Given the description of an element on the screen output the (x, y) to click on. 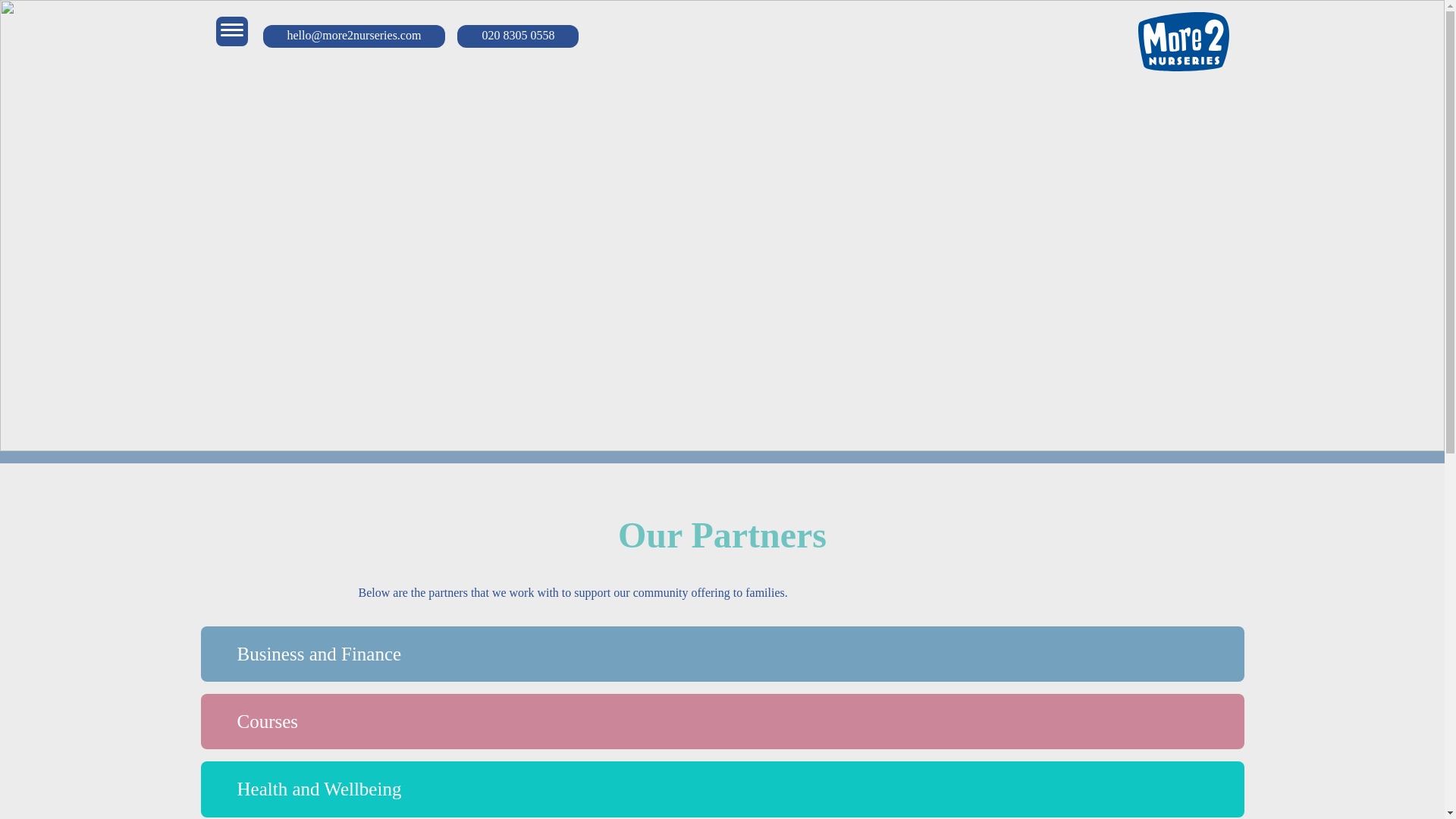
020 8305 0558 (517, 31)
020 8305 0558 (517, 36)
